Given the description of an element on the screen output the (x, y) to click on. 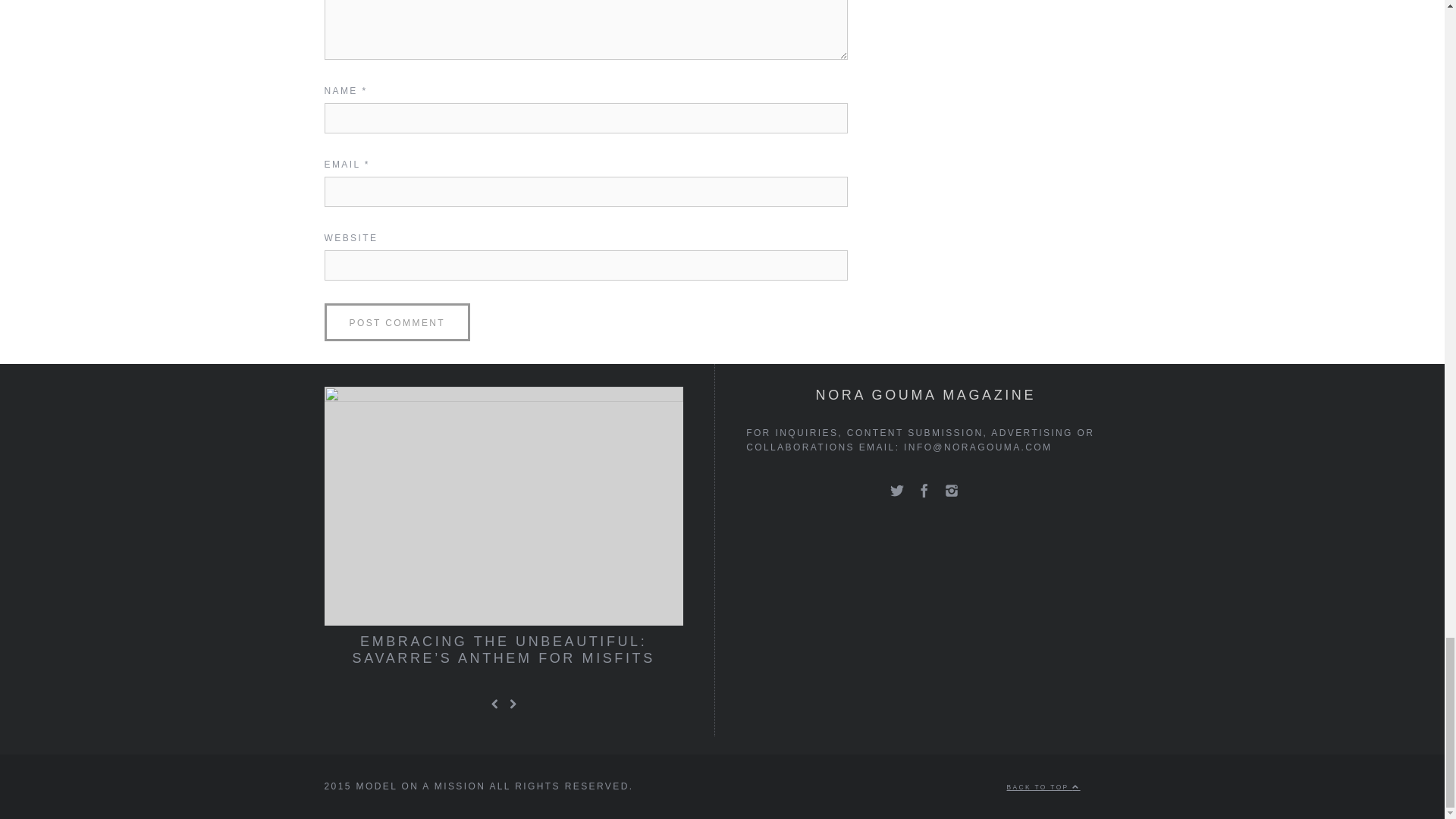
Post Comment (397, 322)
